Given the description of an element on the screen output the (x, y) to click on. 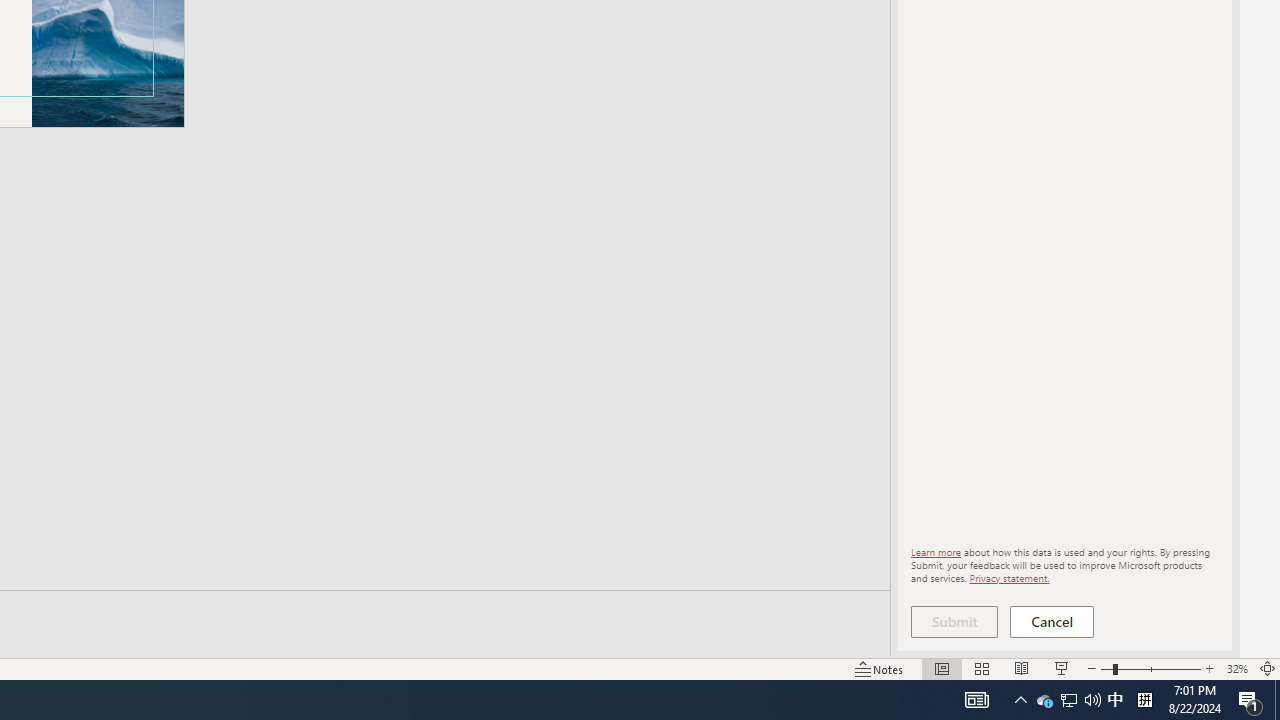
Zoom 32% (1236, 668)
Submit (954, 621)
Cancel (1051, 621)
Learn more (936, 551)
Privacy statement. (1008, 577)
